Given the description of an element on the screen output the (x, y) to click on. 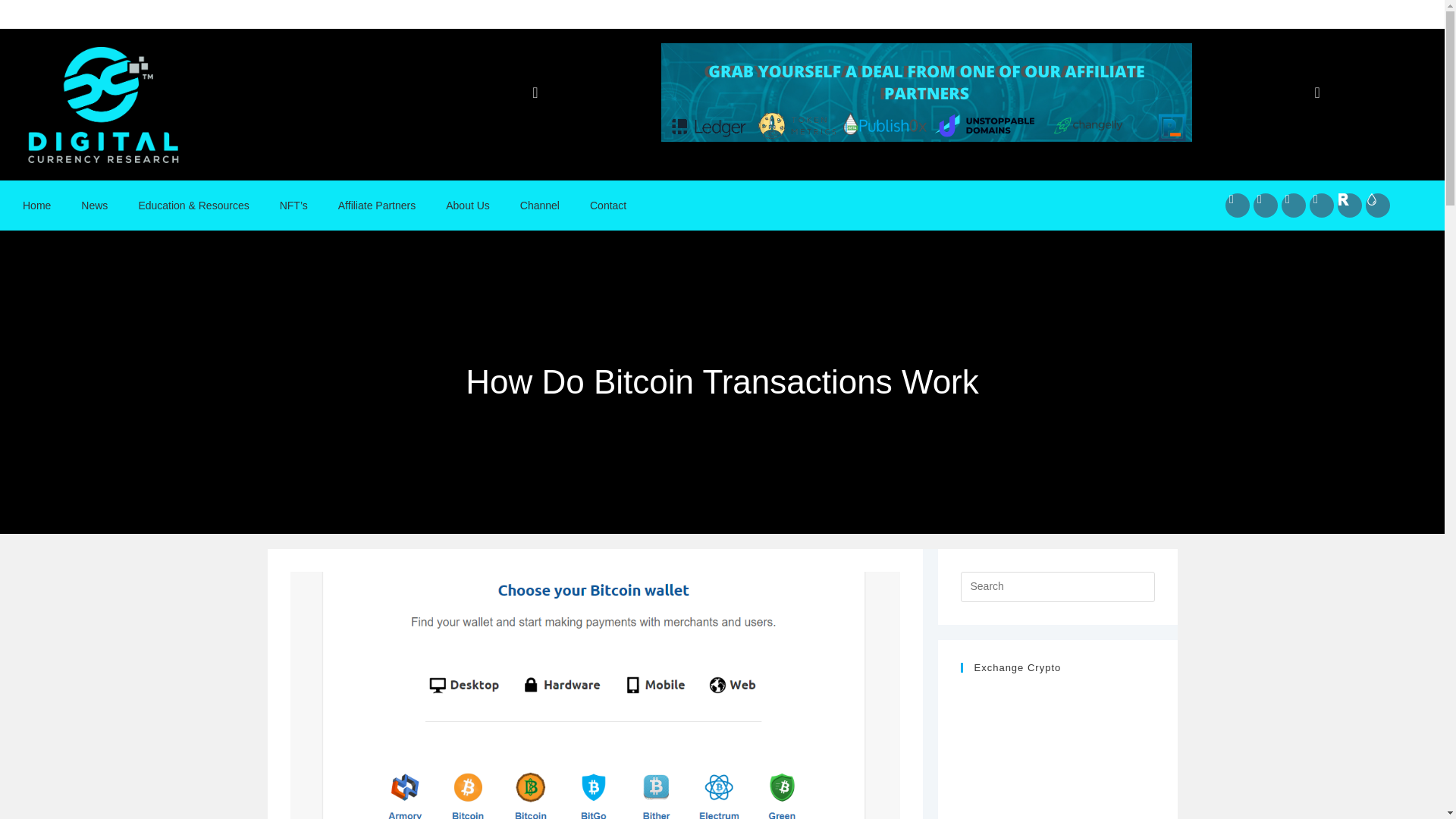
Affiliate Partners (376, 205)
News (93, 205)
Home (36, 205)
Channel (540, 205)
Contact (608, 205)
About Us (467, 205)
